Given the description of an element on the screen output the (x, y) to click on. 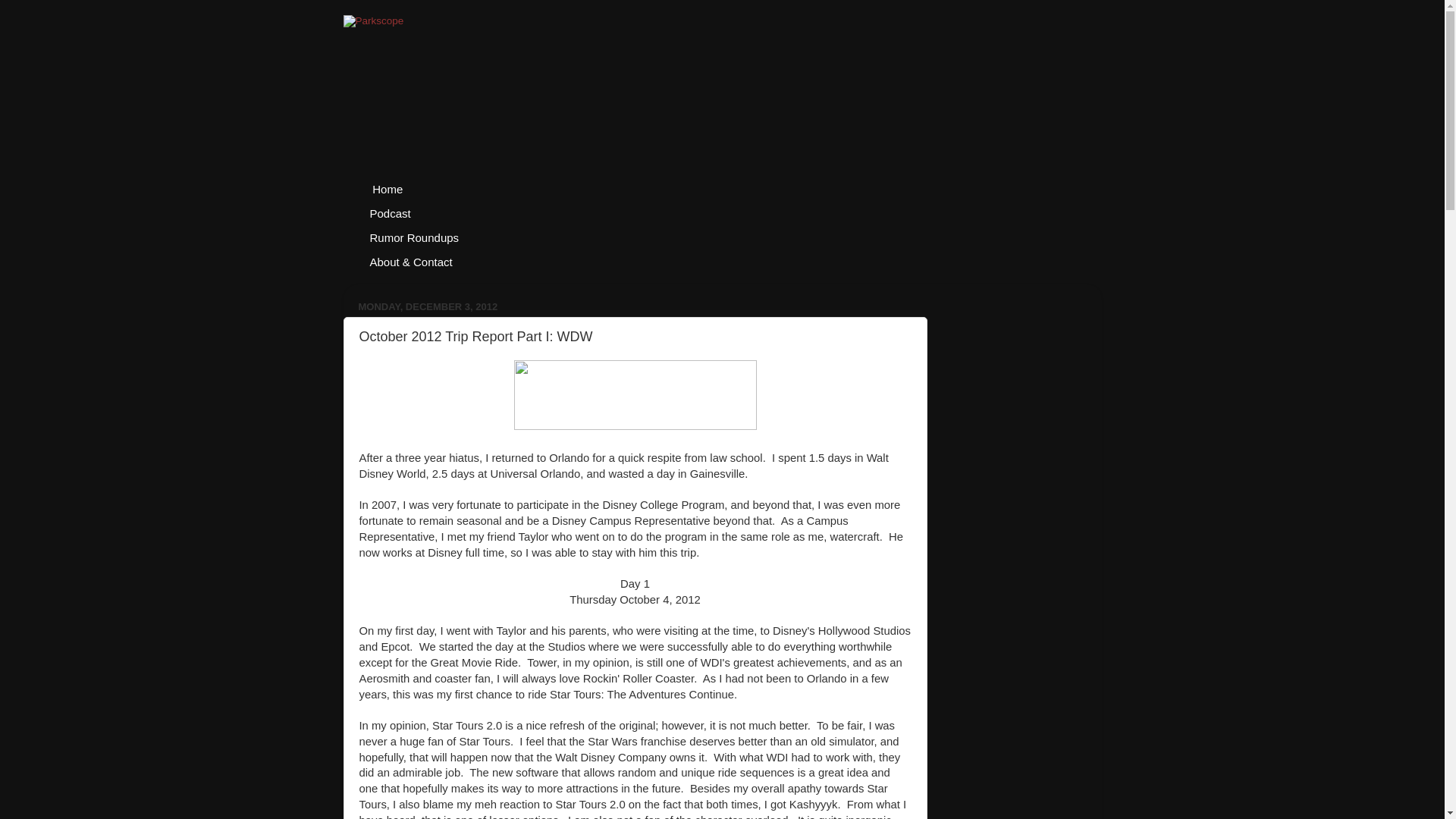
Podcast (390, 213)
Home (386, 189)
Rumor Roundups (414, 238)
